Given the description of an element on the screen output the (x, y) to click on. 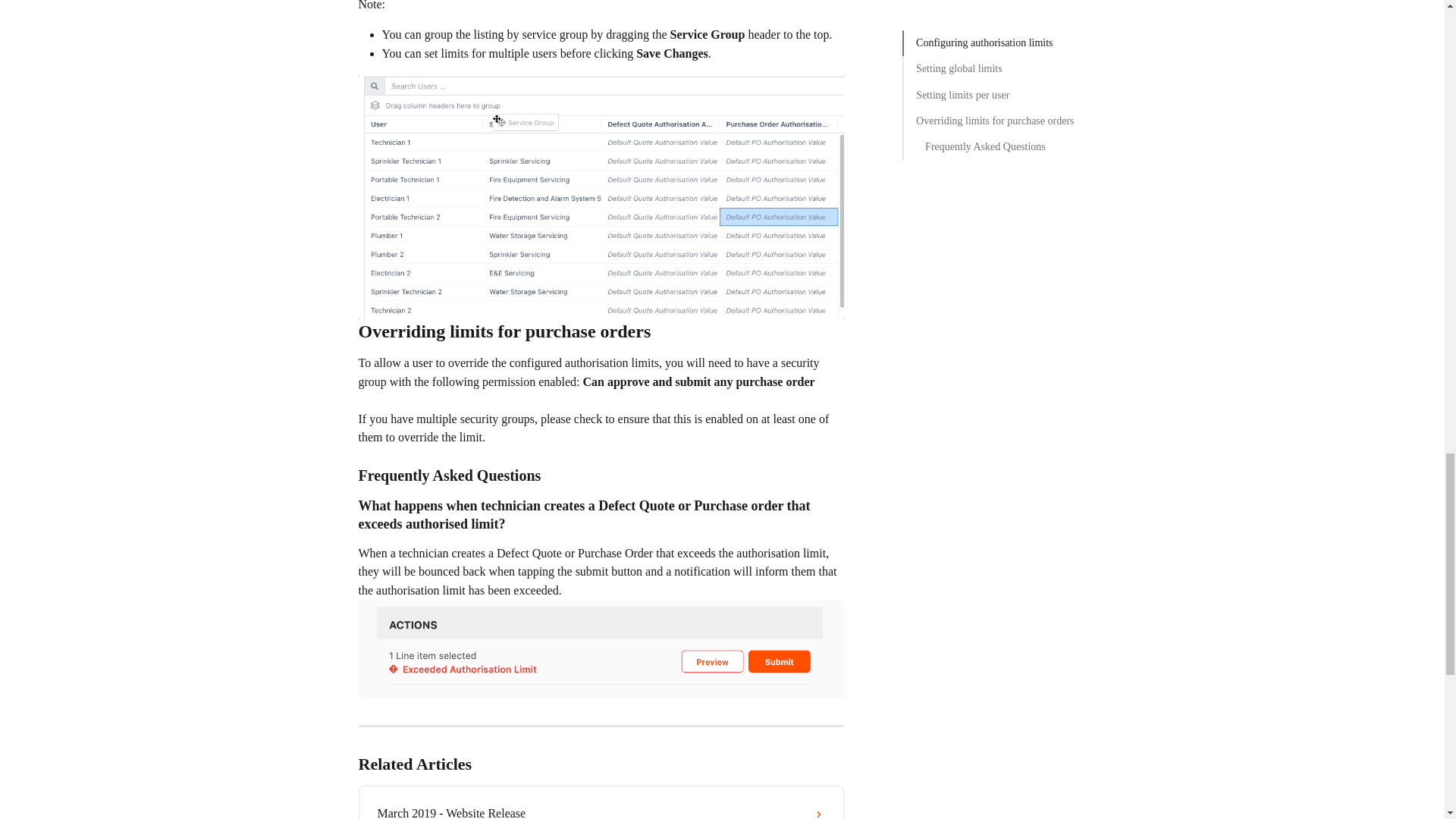
March 2019 - Website Release (601, 807)
